Given the description of an element on the screen output the (x, y) to click on. 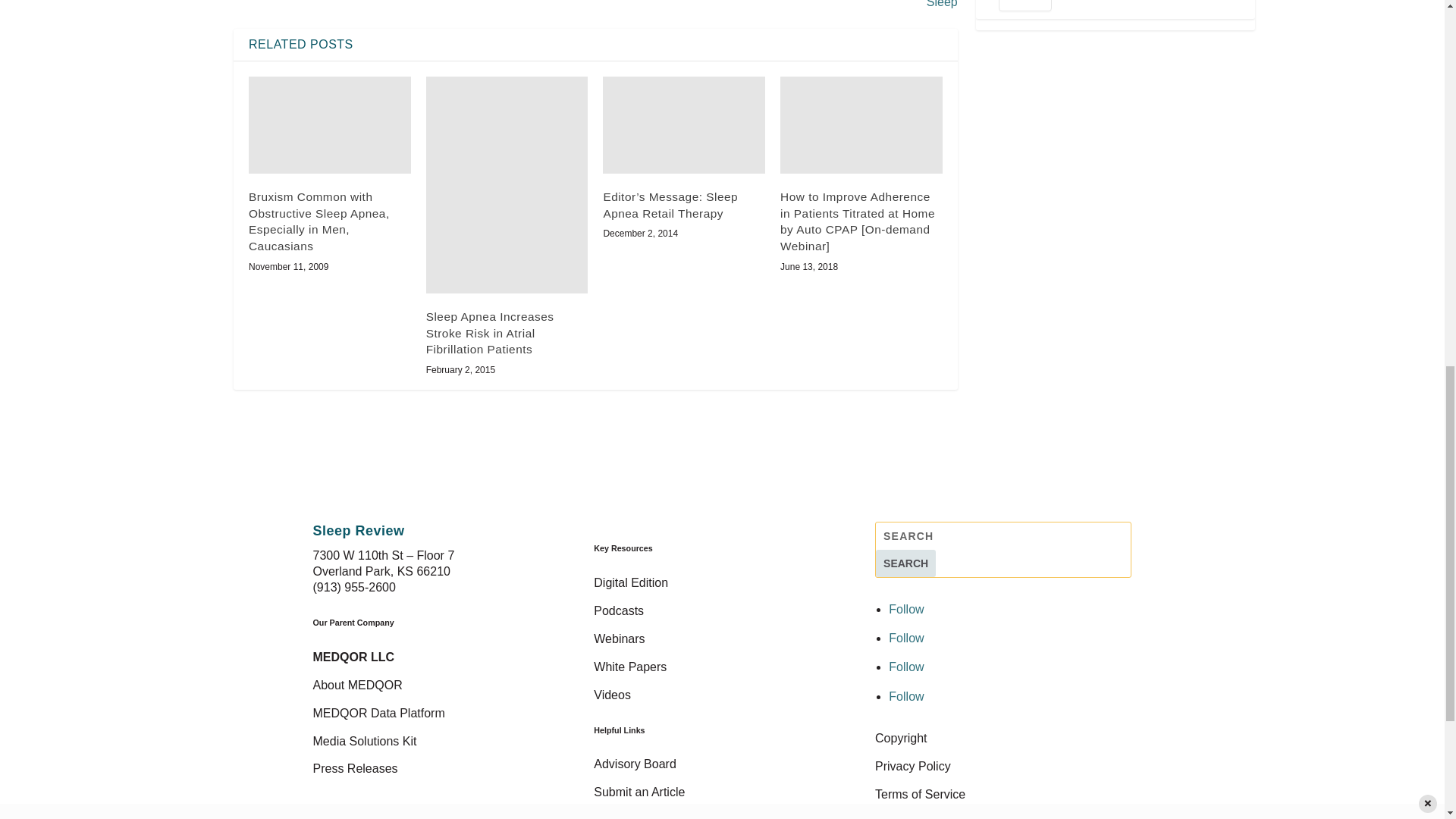
Search (906, 563)
Follow on Facebook (905, 608)
Follow on X (905, 637)
Search (906, 563)
Follow on Youtube (905, 696)
Follow on LinkedIn (905, 666)
